Given the description of an element on the screen output the (x, y) to click on. 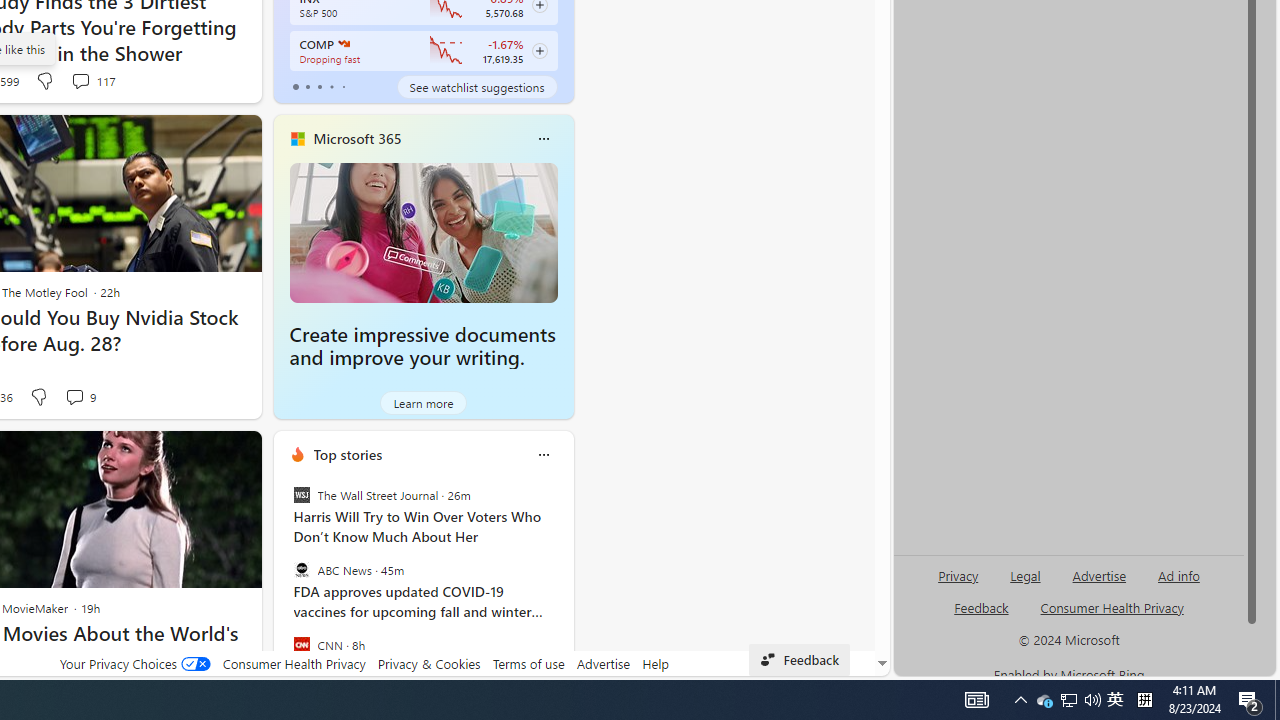
View comments 117 Comment (92, 80)
ABC News (301, 570)
View comments 117 Comment (80, 80)
See watchlist suggestions (476, 86)
previous (283, 583)
The Wall Street Journal (301, 494)
